Given the description of an element on the screen output the (x, y) to click on. 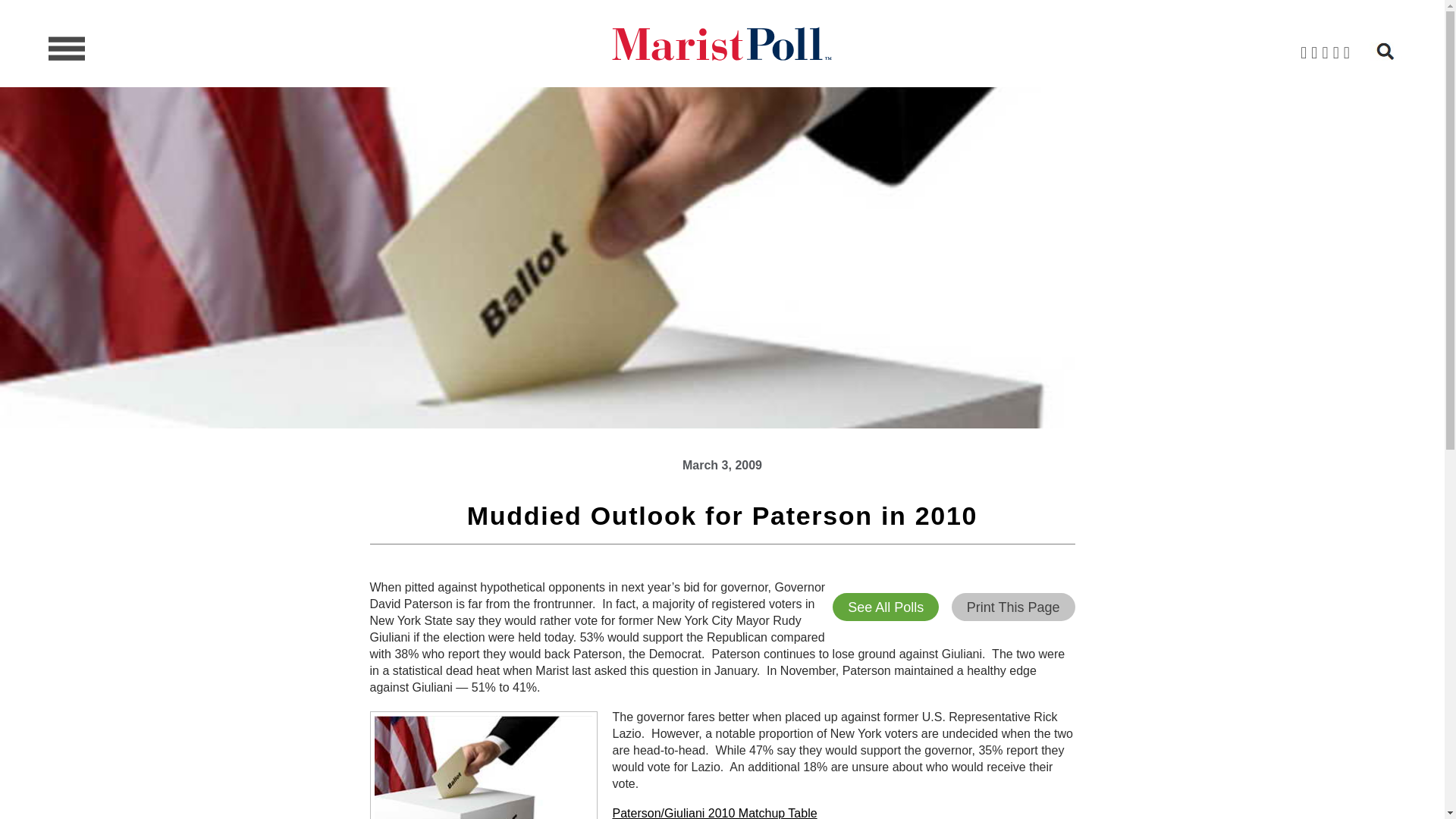
Home of the Marist Poll (721, 43)
See All Polls (885, 606)
Home of the Marist Poll (721, 43)
Print This Page (1013, 606)
